Given the description of an element on the screen output the (x, y) to click on. 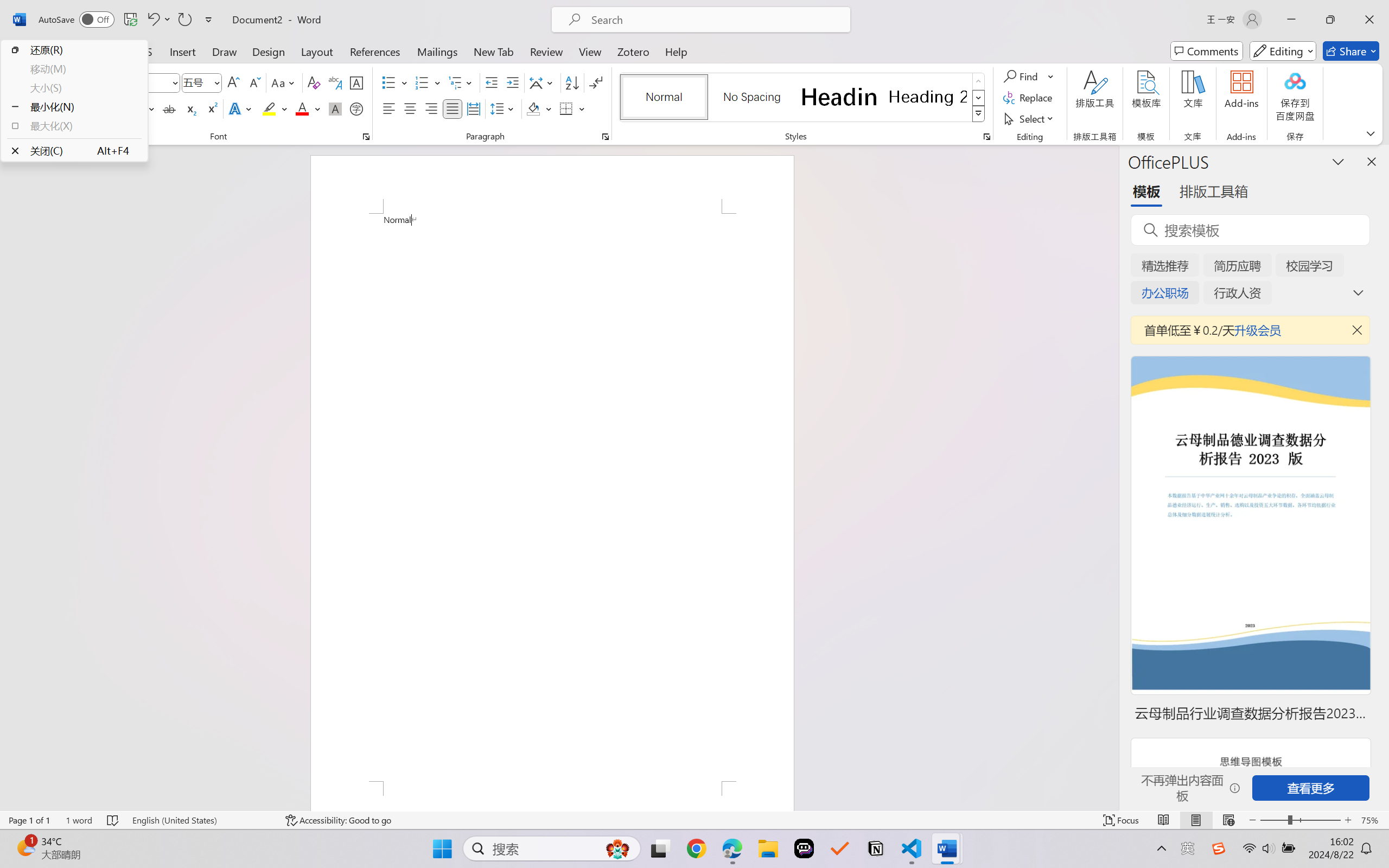
AutomationID: QuickStylesGallery (802, 97)
Paste (33, 81)
Show/Hide Editing Marks (595, 82)
Quick Access Toolbar (127, 19)
